Given the description of an element on the screen output the (x, y) to click on. 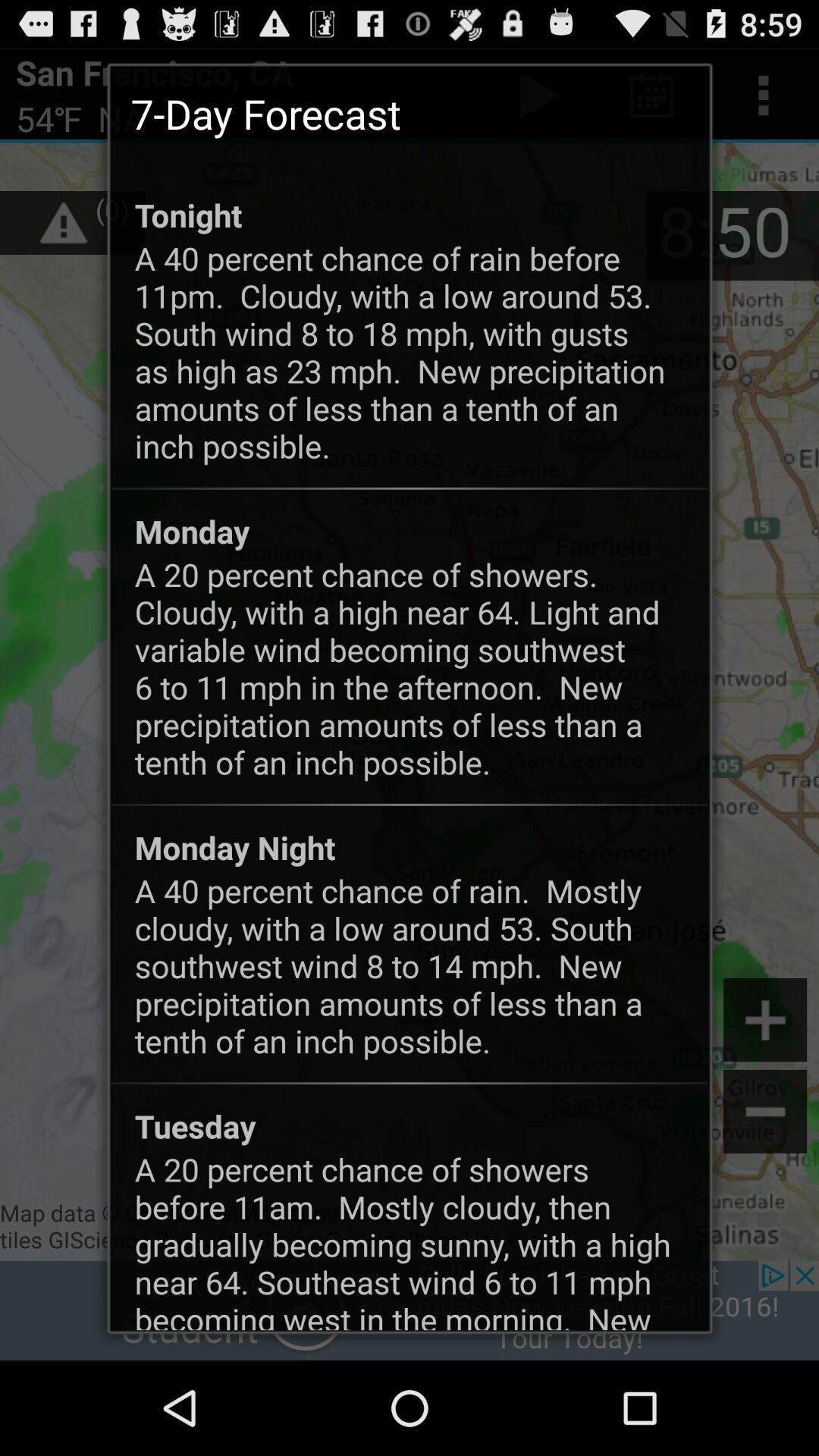
select the app below 7-day forecast icon (188, 214)
